Given the description of an element on the screen output the (x, y) to click on. 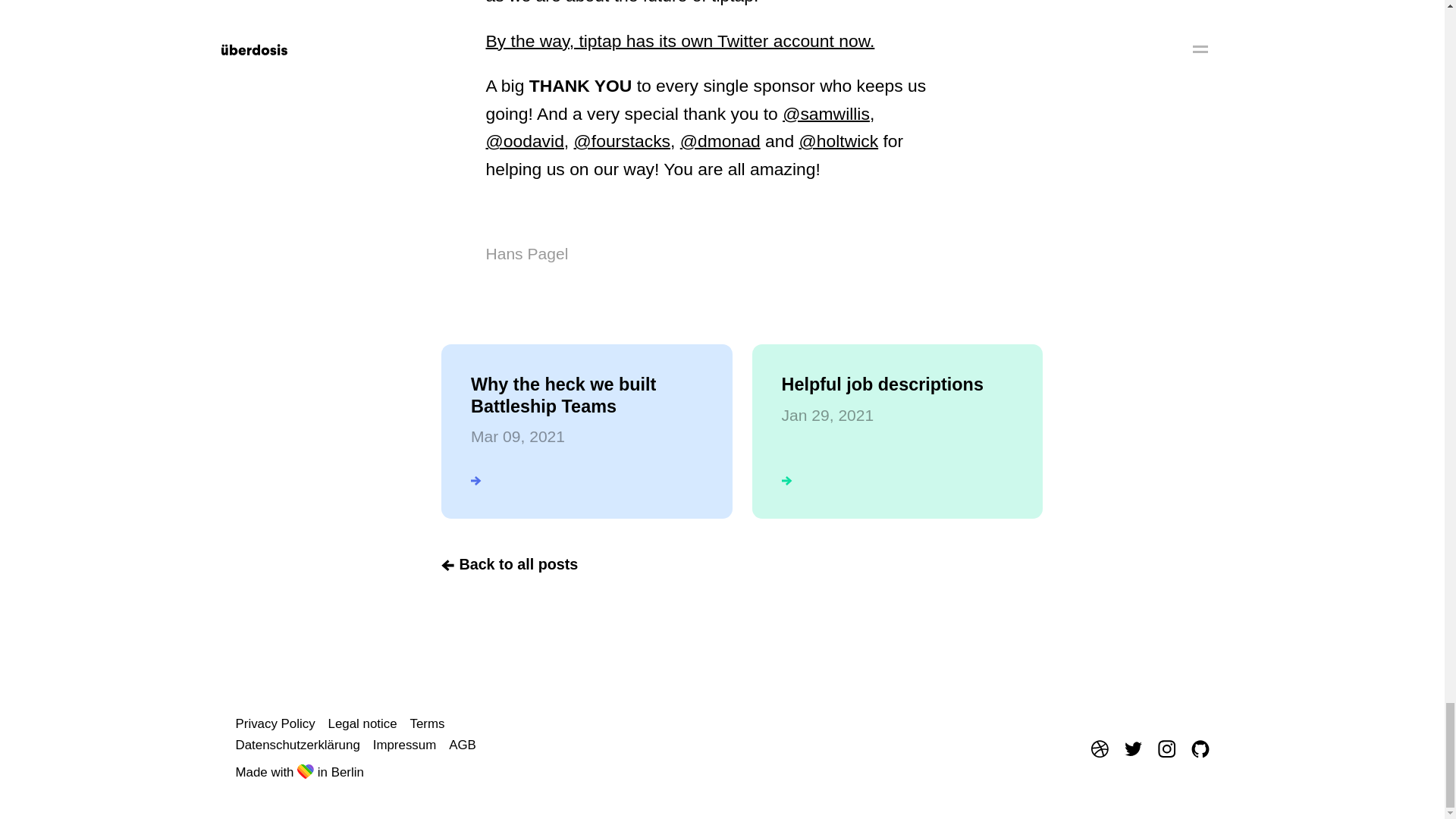
Impressum (586, 430)
Terms (404, 745)
Privacy Policy (426, 723)
Back to all posts (274, 723)
Legal notice (509, 564)
By the way, tiptap has its own Twitter account now. (363, 723)
AGB (679, 40)
